Given the description of an element on the screen output the (x, y) to click on. 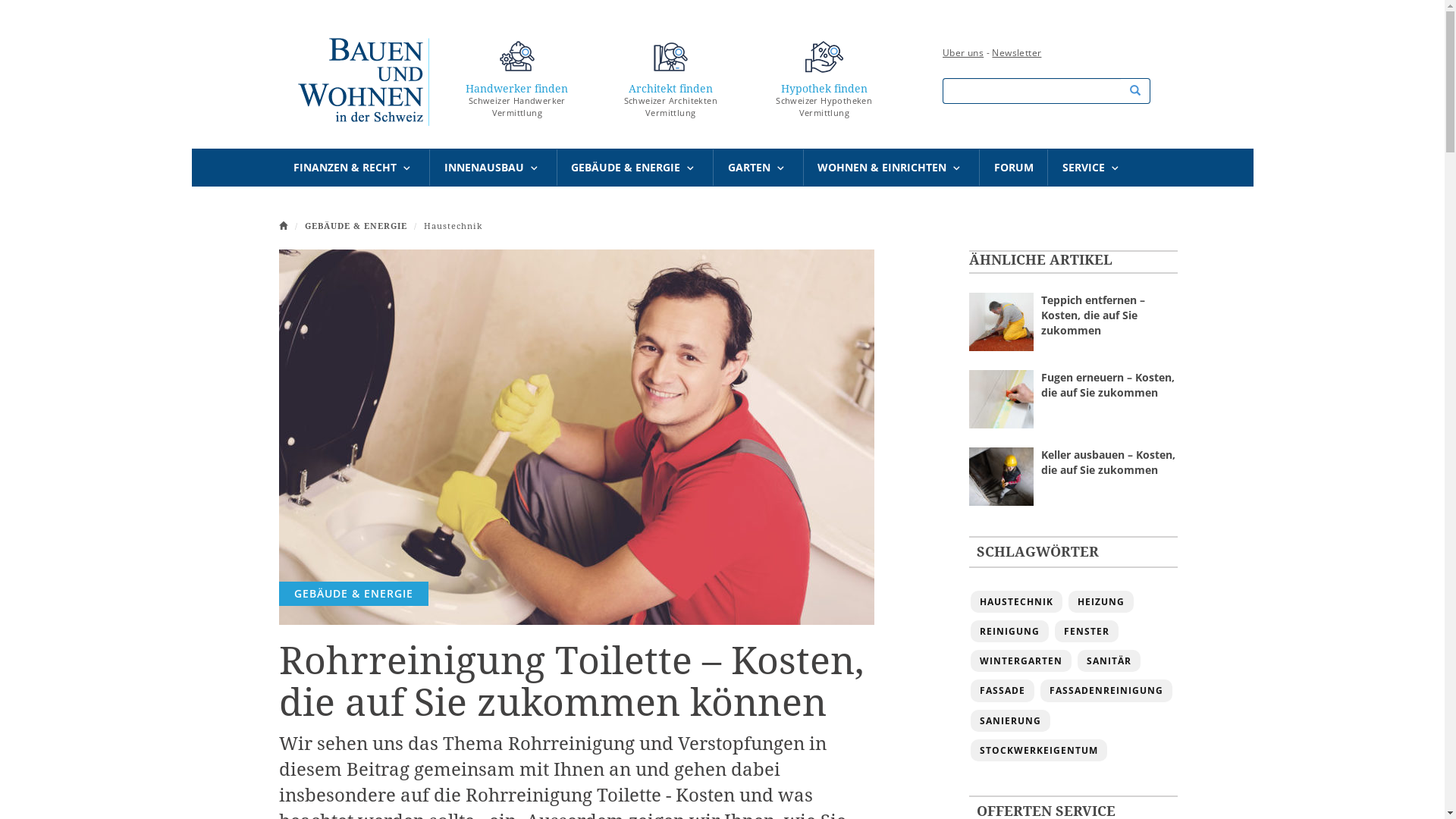
HAUSTECHNIK Element type: text (1016, 601)
REINIGUNG Element type: text (1009, 631)
WOHNEN & EINRICHTEN Element type: text (891, 167)
HEIZUNG Element type: text (1099, 601)
GARTEN Element type: text (758, 167)
Architekt finden
Schweizer Architekten Vermittlung Element type: text (670, 83)
Hypothek finden
Schweizer Hypotheken Vermittlung Element type: text (823, 83)
SANIERUNG Element type: text (1010, 720)
FENSTER Element type: text (1085, 631)
FINANZEN & RECHT Element type: text (354, 167)
Haustechnik Element type: text (452, 226)
Newsletter Element type: text (1016, 52)
FASSADE Element type: text (1002, 690)
WINTERGARTEN Element type: text (1020, 660)
Uber uns Element type: text (962, 52)
FASSADENREINIGUNG Element type: text (1106, 690)
INNENAUSBAU Element type: text (492, 167)
FORUM Element type: text (1013, 167)
Handwerker finden
Schweizer Handwerker Vermittlung Element type: text (517, 83)
STOCKWERKEIGENTUM Element type: text (1038, 750)
Bauen und Wohnen in der Schweiz Element type: hover (362, 80)
SERVICE Element type: text (1092, 167)
